Given the description of an element on the screen output the (x, y) to click on. 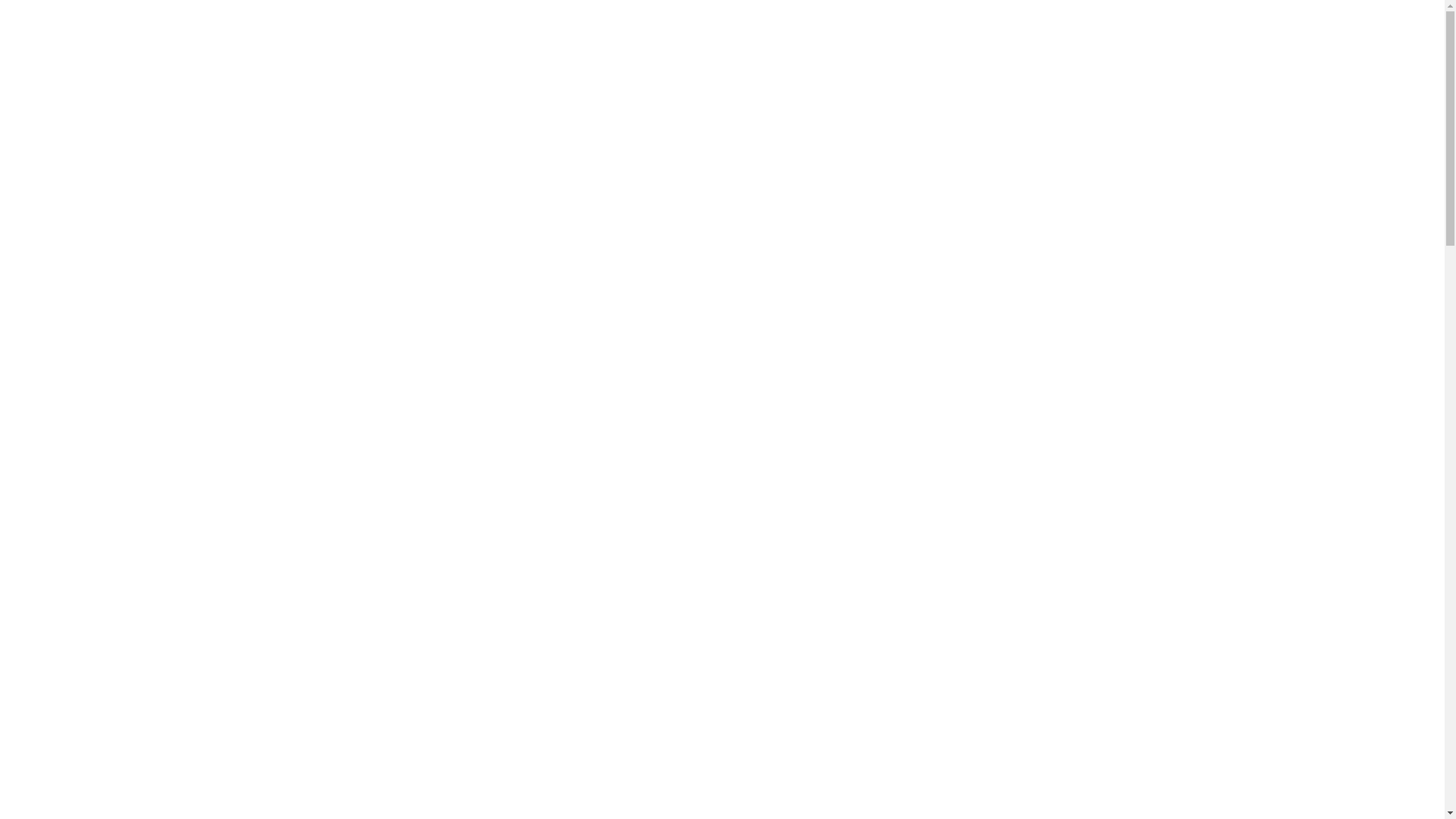
PRIME Element type: text (743, 17)
EN Element type: text (791, 17)
